Given the description of an element on the screen output the (x, y) to click on. 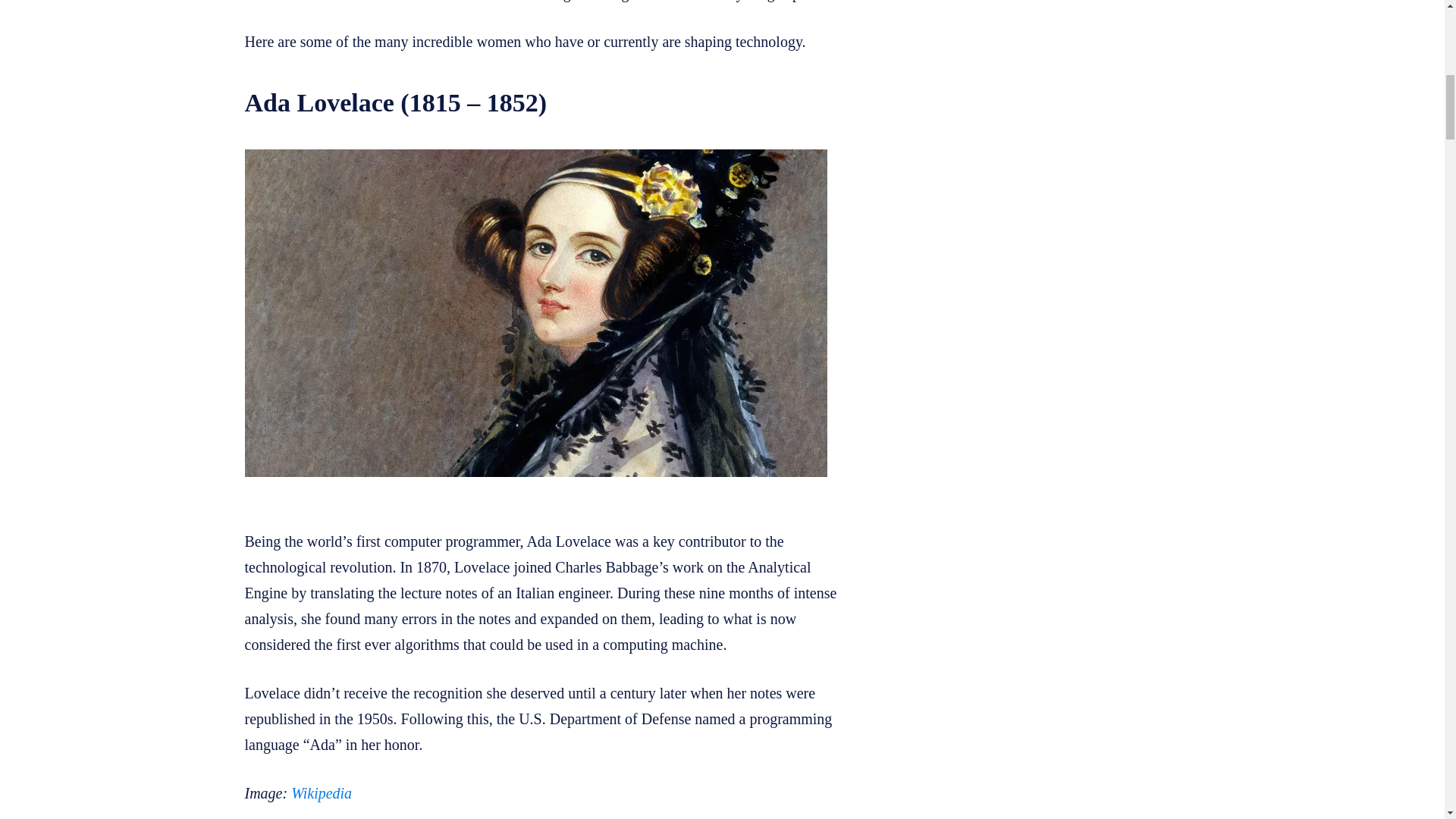
Wikipedia (321, 792)
